Given the description of an element on the screen output the (x, y) to click on. 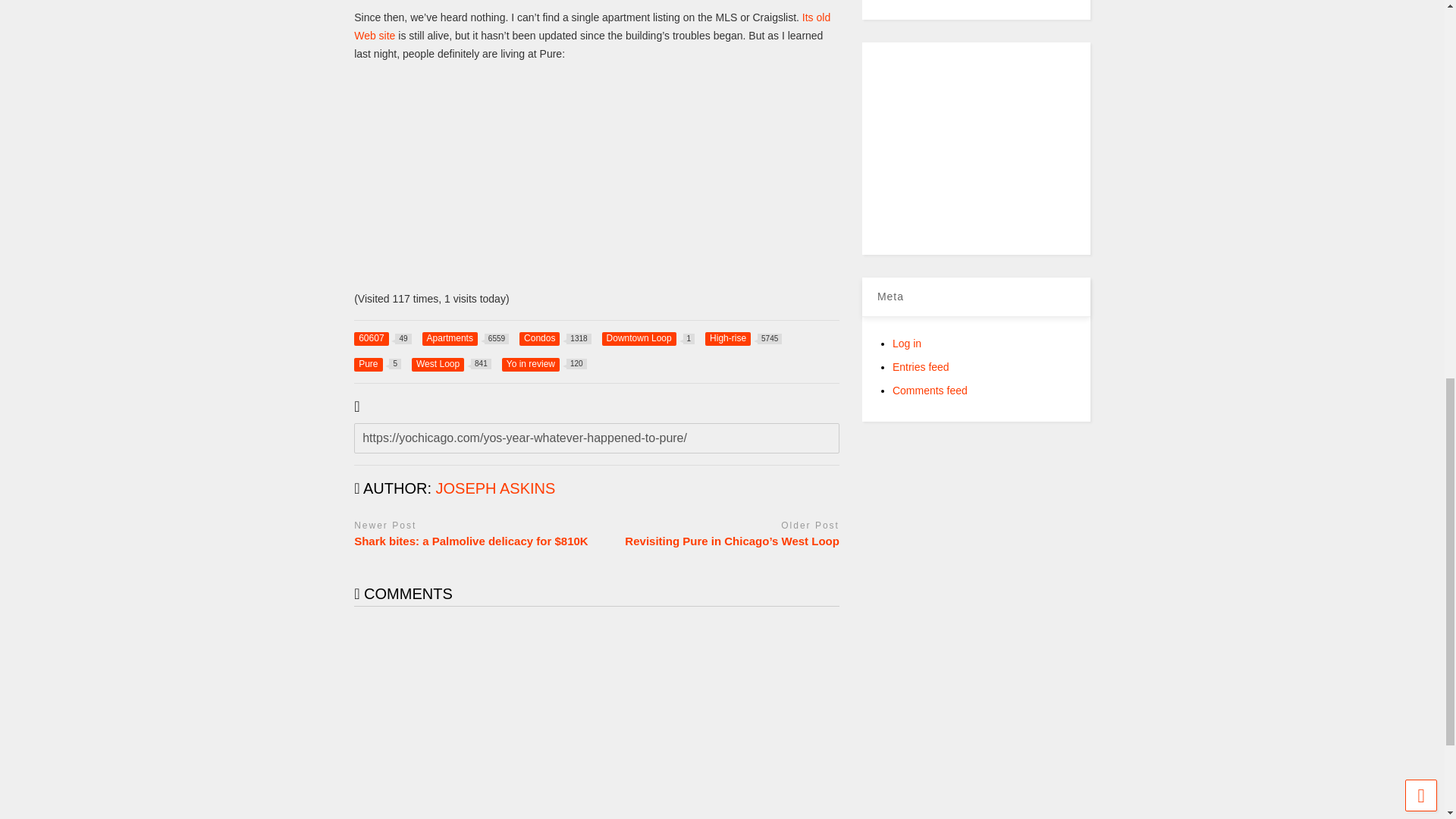
author profile (495, 487)
Advertisement (996, 148)
